Given the description of an element on the screen output the (x, y) to click on. 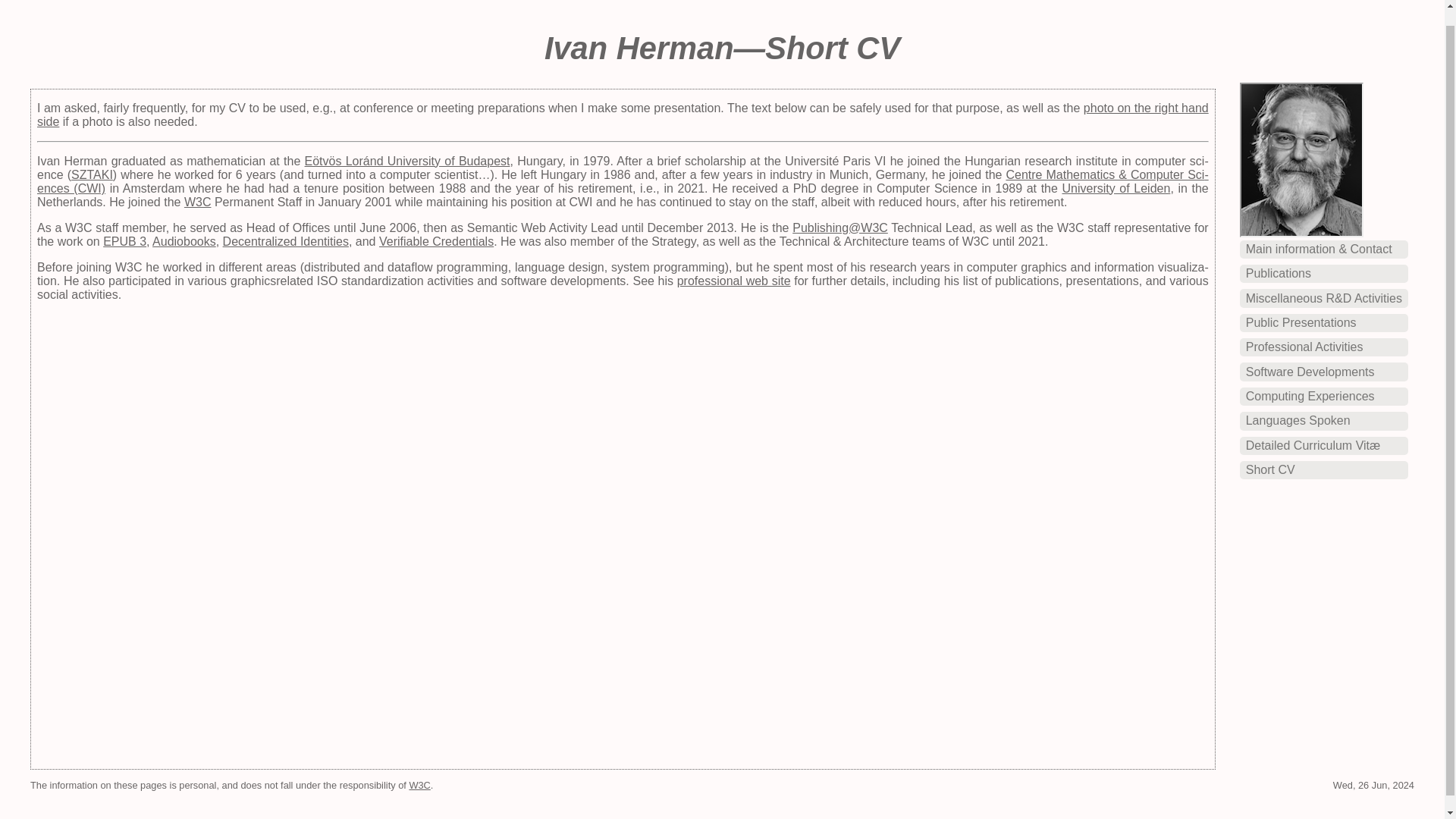
Short CV (1270, 469)
W3C (419, 785)
photo on the right hand side (622, 114)
W3C (197, 201)
EPUB 3 (125, 241)
